Given the description of an element on the screen output the (x, y) to click on. 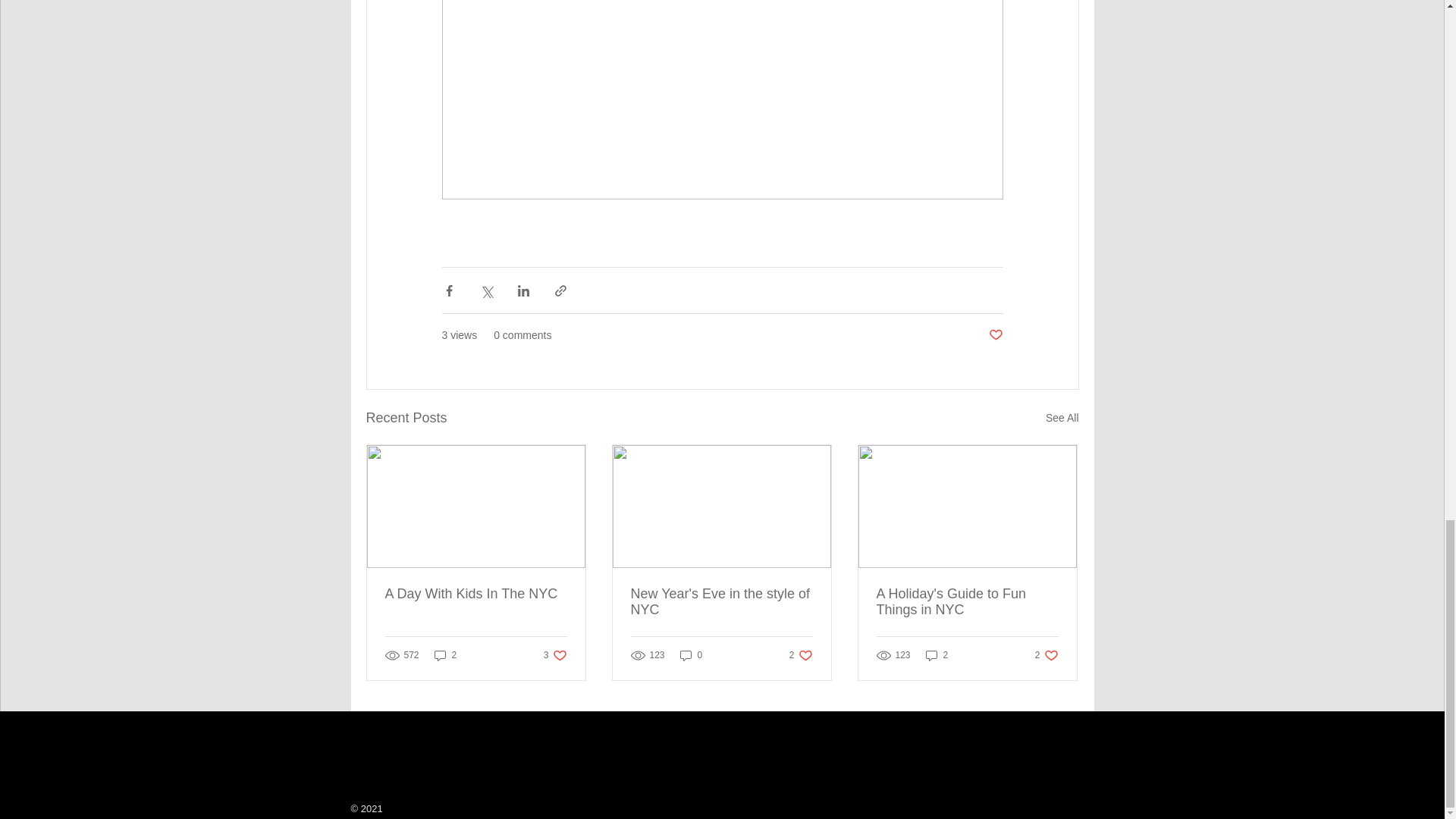
A Holiday's Guide to Fun Things in NYC (967, 602)
A Day With Kids In The NYC (476, 593)
2 (1046, 655)
0 (445, 655)
Post not marked as liked (555, 655)
New Year's Eve in the style of NYC (691, 655)
See All (800, 655)
